Given the description of an element on the screen output the (x, y) to click on. 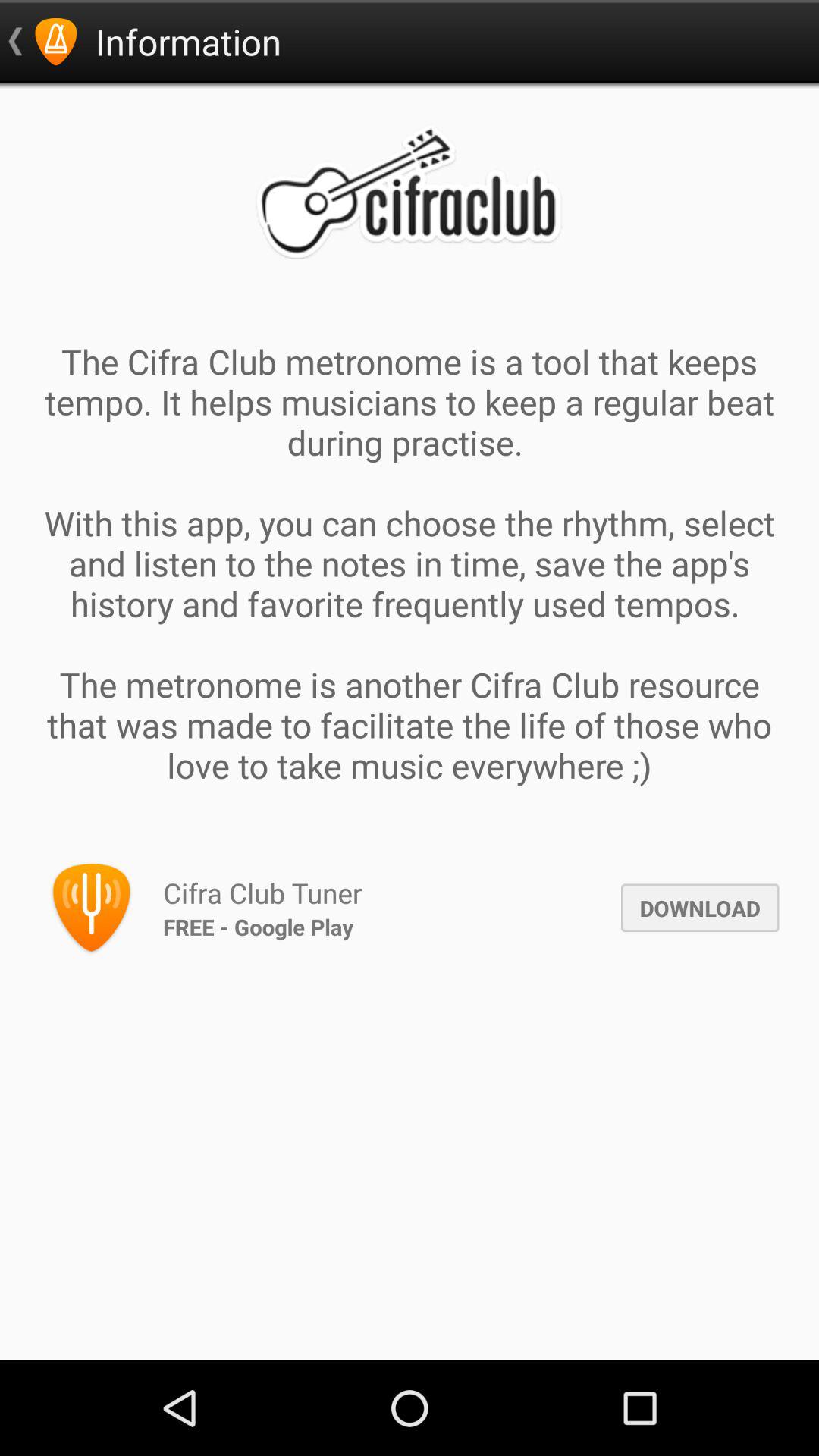
tap the app next to the cifra club tuner icon (700, 907)
